Given the description of an element on the screen output the (x, y) to click on. 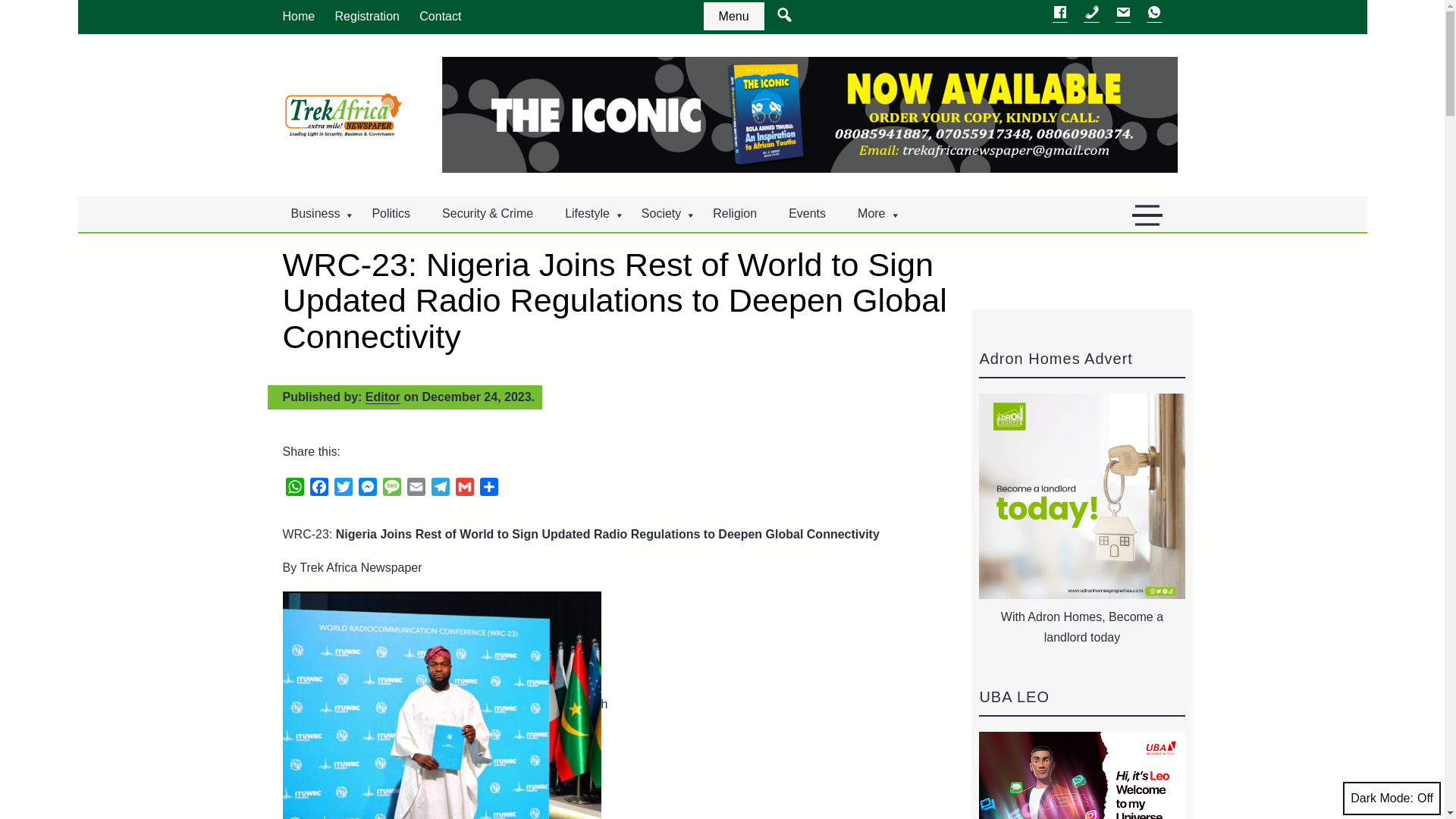
Messenger (366, 489)
Posts by Editor (382, 396)
Facebook (317, 489)
Home (298, 17)
Registration (366, 17)
Find it (823, 82)
Email (415, 489)
WhatsApp (293, 489)
Send a mail to Trek Africa (1123, 15)
Message (390, 489)
